Given the description of an element on the screen output the (x, y) to click on. 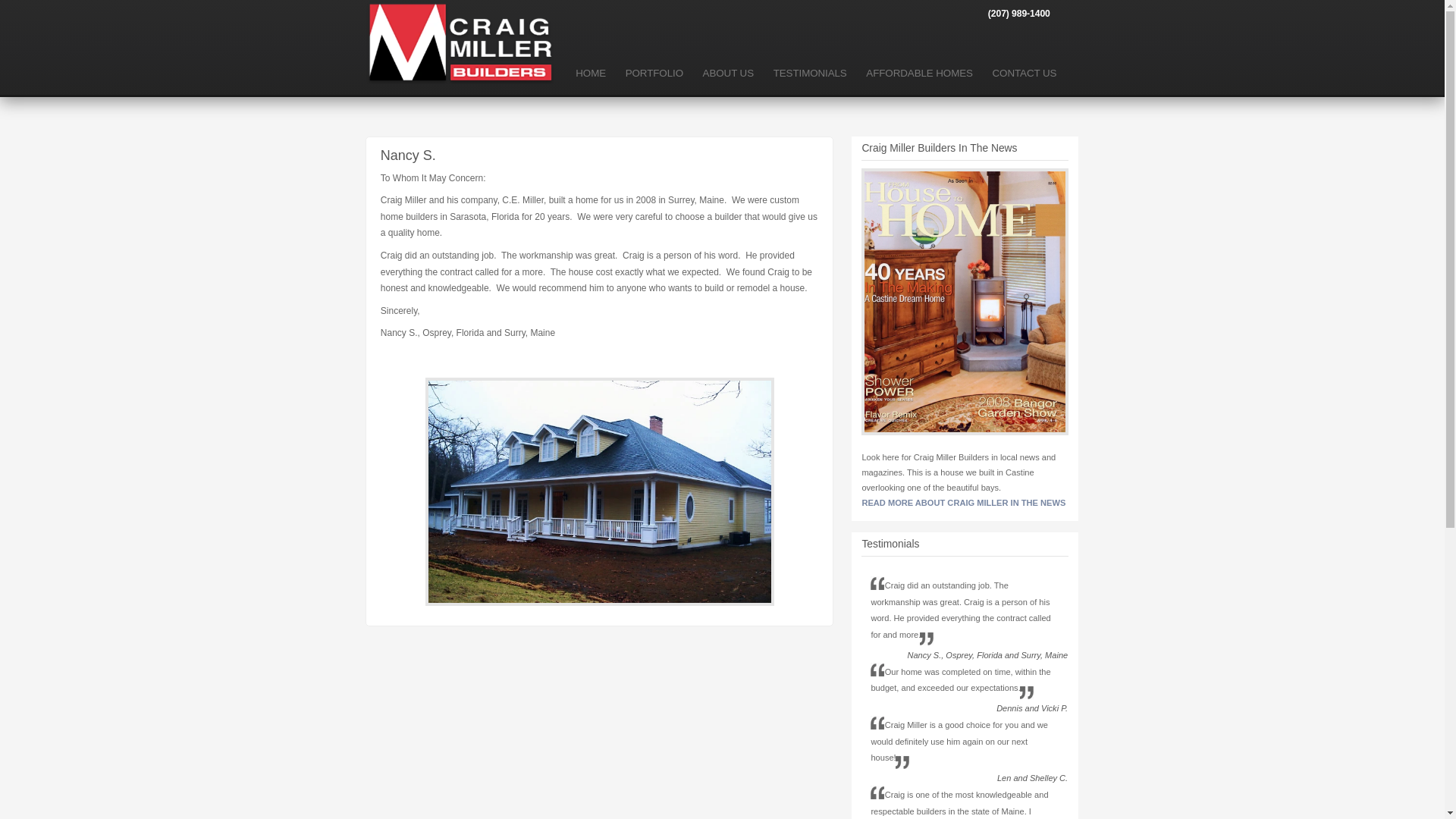
ABOUT US (727, 73)
PORTFOLIO (653, 73)
CONTACT US (1023, 73)
READ MORE ABOUT CRAIG MILLER IN THE NEWS (963, 501)
AFFORDABLE HOMES (919, 73)
TESTIMONIALS (810, 73)
HOME (590, 73)
